Given the description of an element on the screen output the (x, y) to click on. 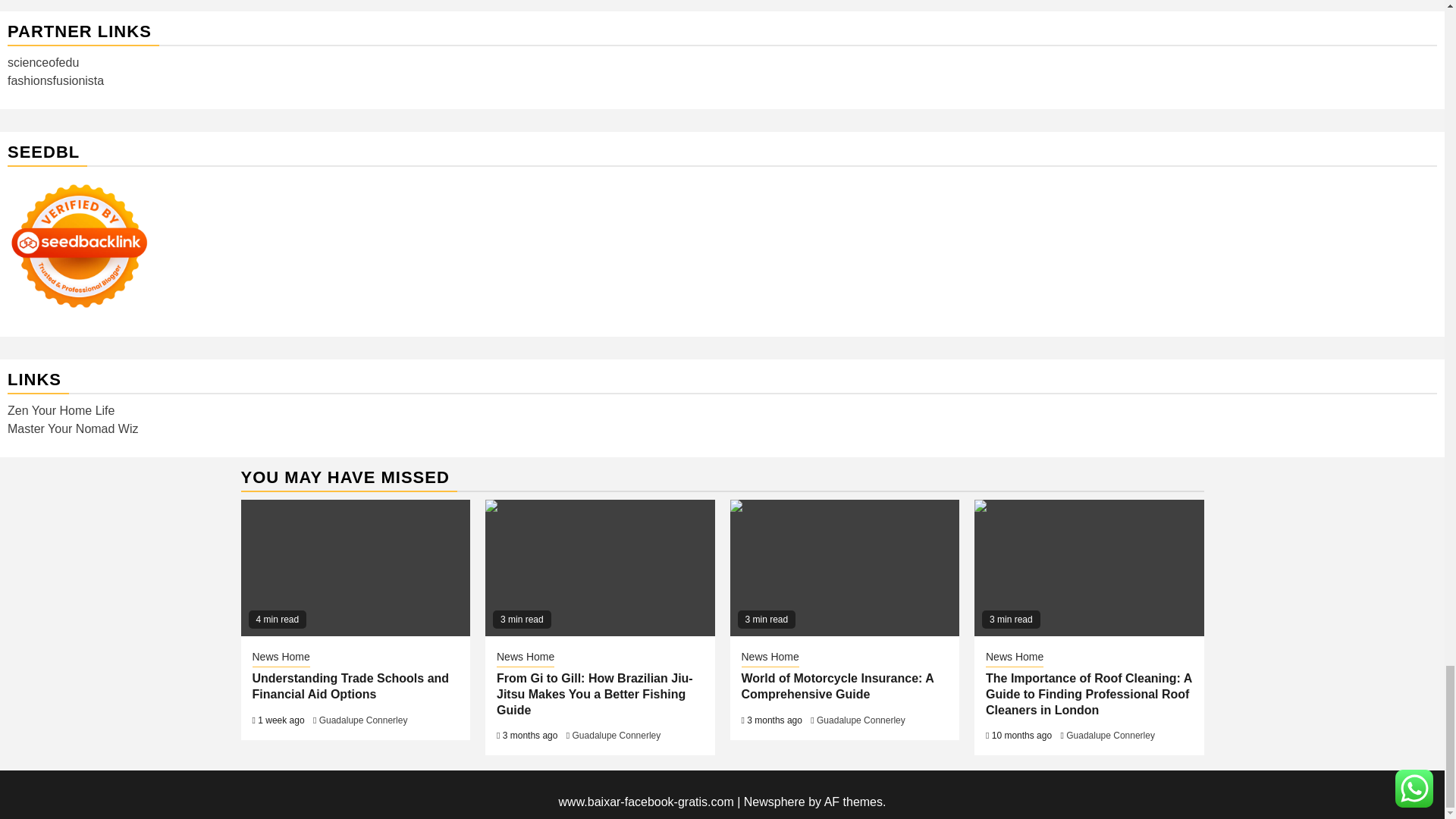
Seedbacklink (79, 245)
World of Motorcycle Insurance: A Comprehensive Guide (844, 567)
